Given the description of an element on the screen output the (x, y) to click on. 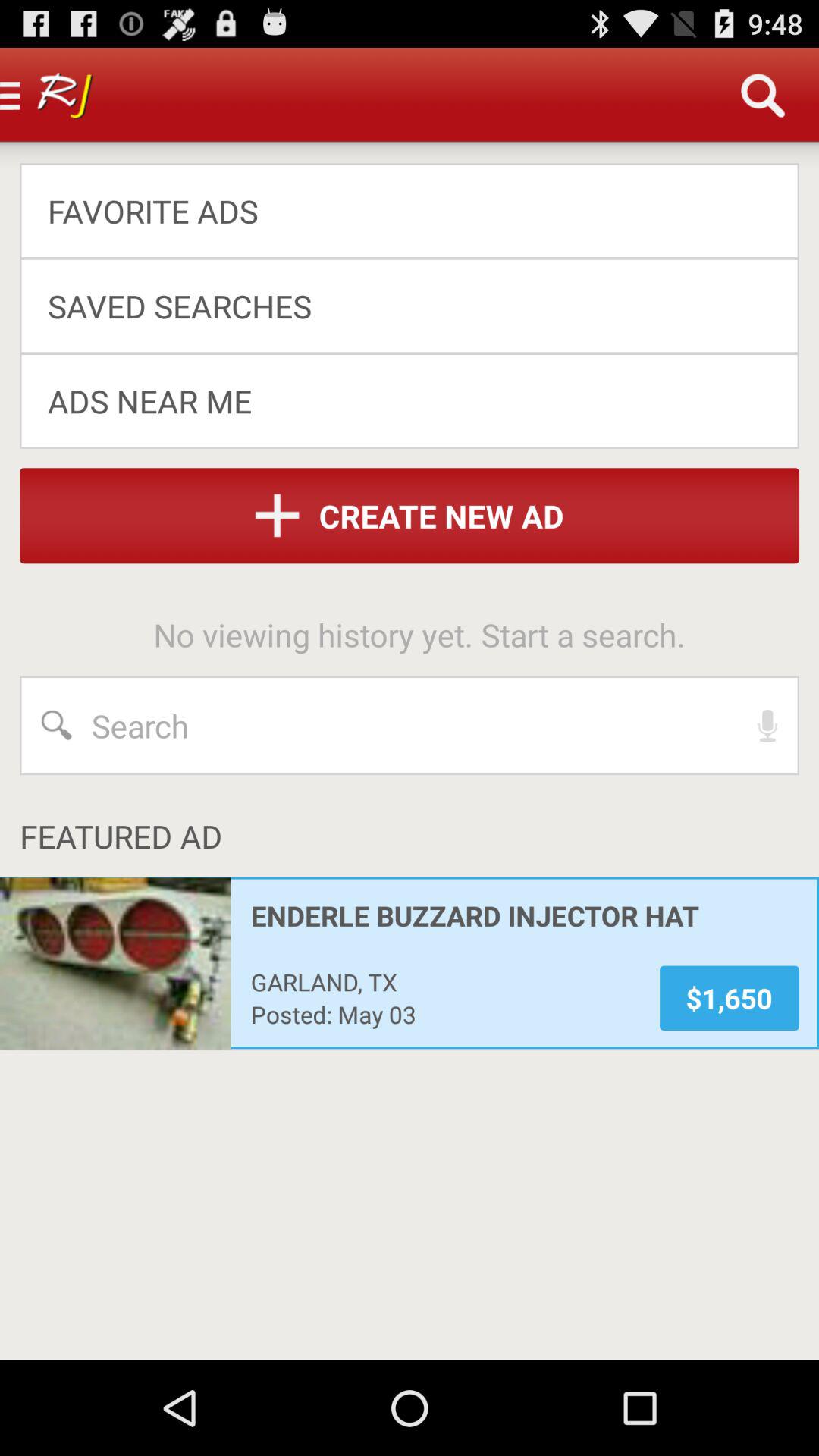
toggle microphone (767, 725)
